Given the description of an element on the screen output the (x, y) to click on. 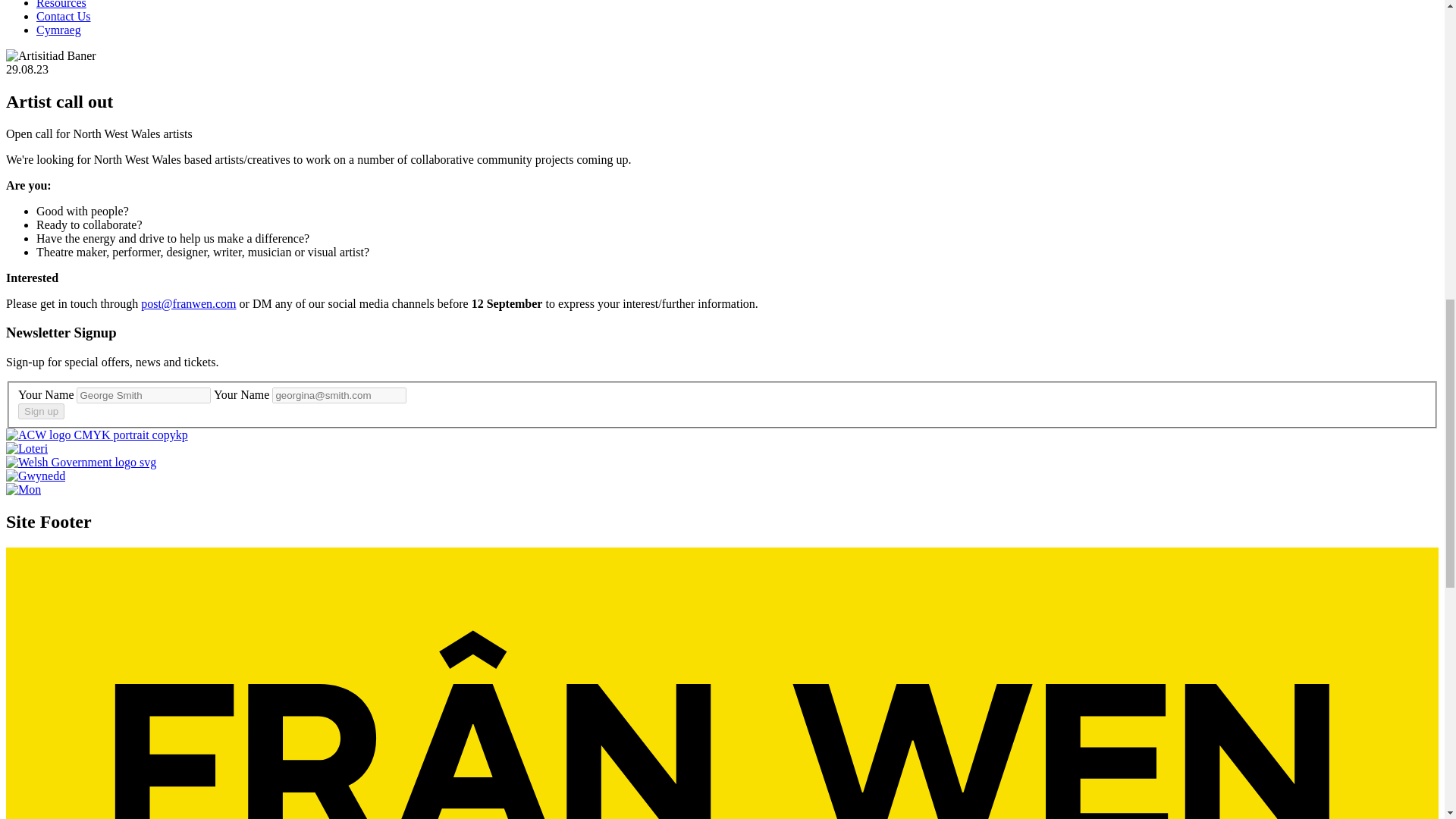
Sign up (40, 411)
Cymraeg (58, 29)
Contact Us (63, 15)
Resources (60, 4)
Sign up (40, 411)
